Given the description of an element on the screen output the (x, y) to click on. 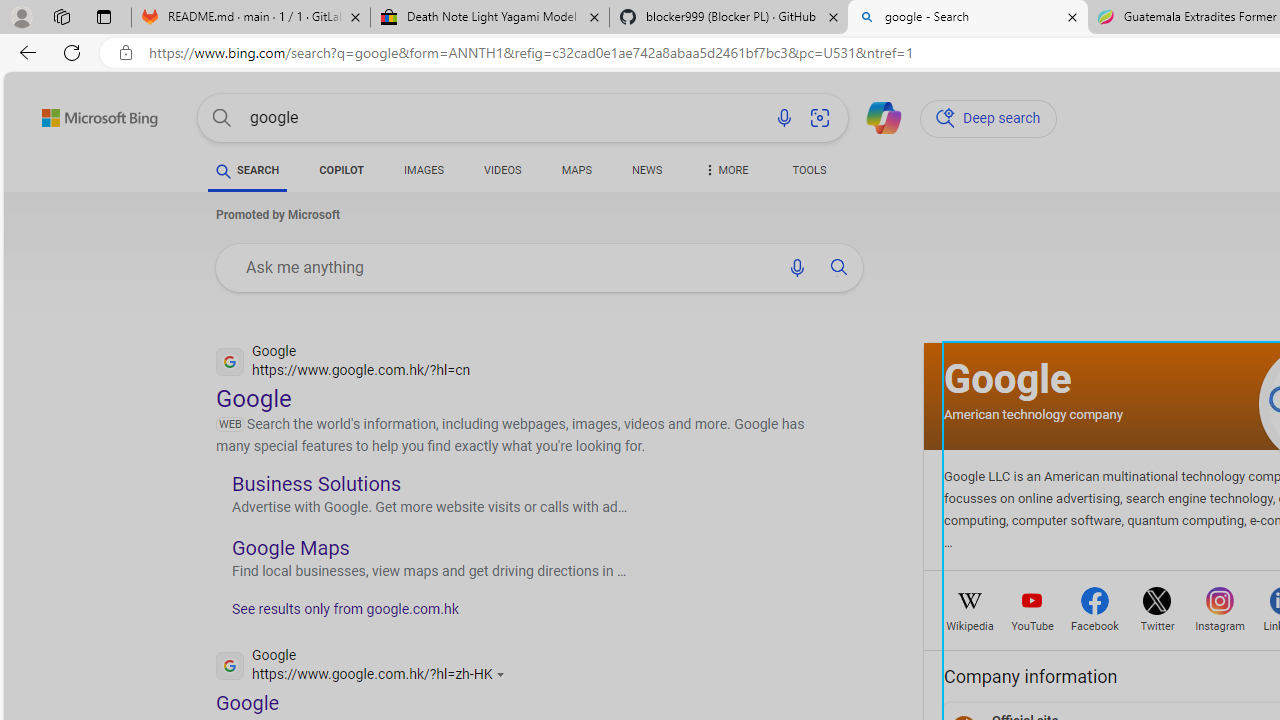
google - Search (967, 17)
